Given the description of an element on the screen output the (x, y) to click on. 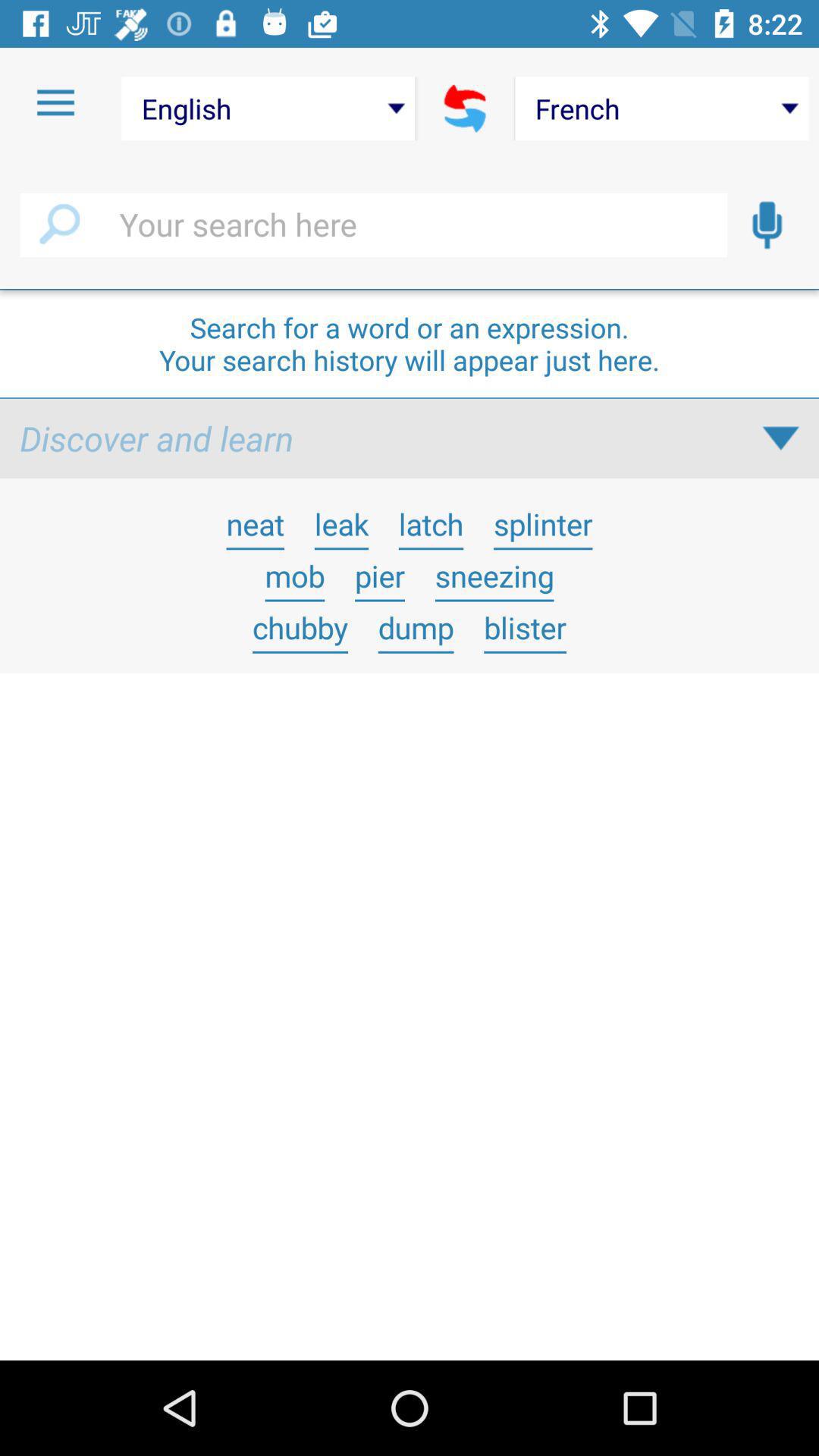
swipe to the english (268, 108)
